Given the description of an element on the screen output the (x, y) to click on. 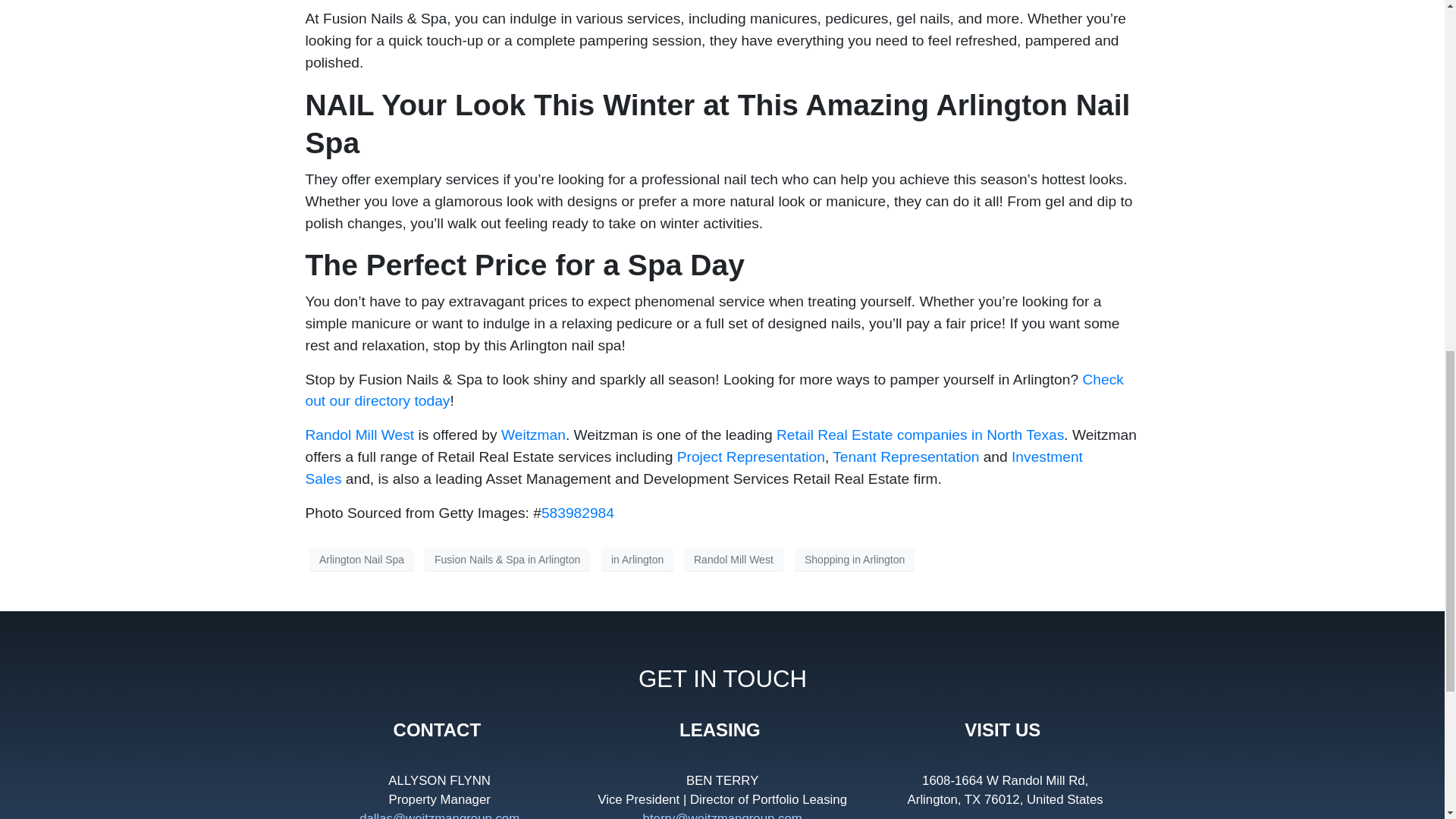
Shopping in Arlington (854, 558)
Check out our directory today (713, 390)
Investment Sales (692, 467)
Project Representation (751, 456)
Tenant Representation (905, 456)
583982984 (577, 512)
Retail Real Estate companies in North Texas (920, 434)
Randol Mill West (358, 434)
Arlington Nail Spa (360, 558)
Randol Mill West (733, 558)
